Given the description of an element on the screen output the (x, y) to click on. 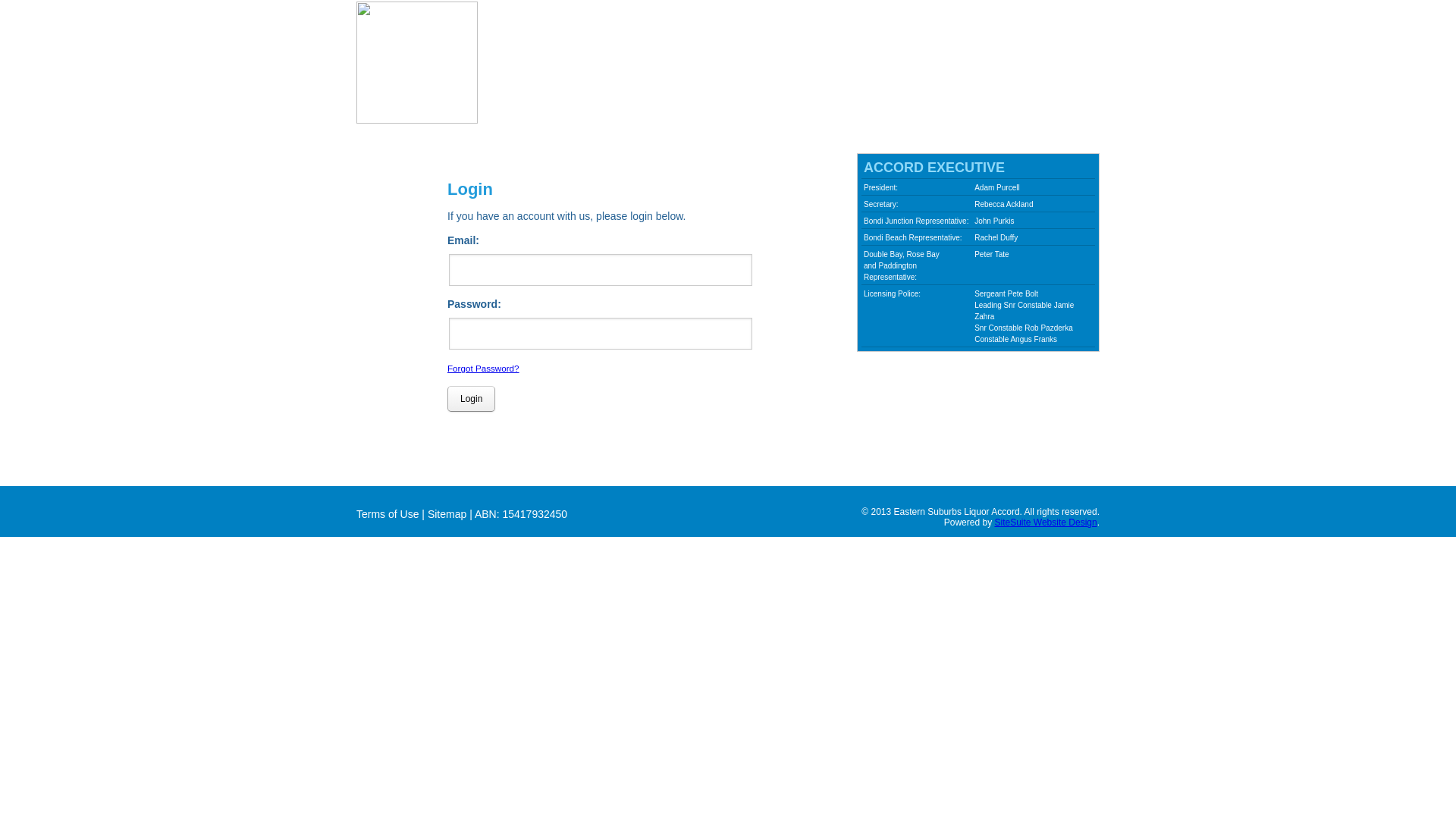
INFO FOR RESIDENTS Element type: text (992, 79)
Sitemap Element type: text (446, 514)
Terms of Use Element type: text (387, 514)
SiteSuite Website Design Element type: text (1045, 522)
Login Element type: text (471, 398)
MEMBERSHIP Element type: text (871, 79)
PROJECTS Element type: text (673, 79)
Forgot Password? Element type: text (483, 367)
CONTACT Element type: text (519, 93)
OUR VALUES Element type: text (584, 79)
HOME Element type: text (509, 79)
OUR MEMBERS Element type: text (768, 79)
